Given the description of an element on the screen output the (x, y) to click on. 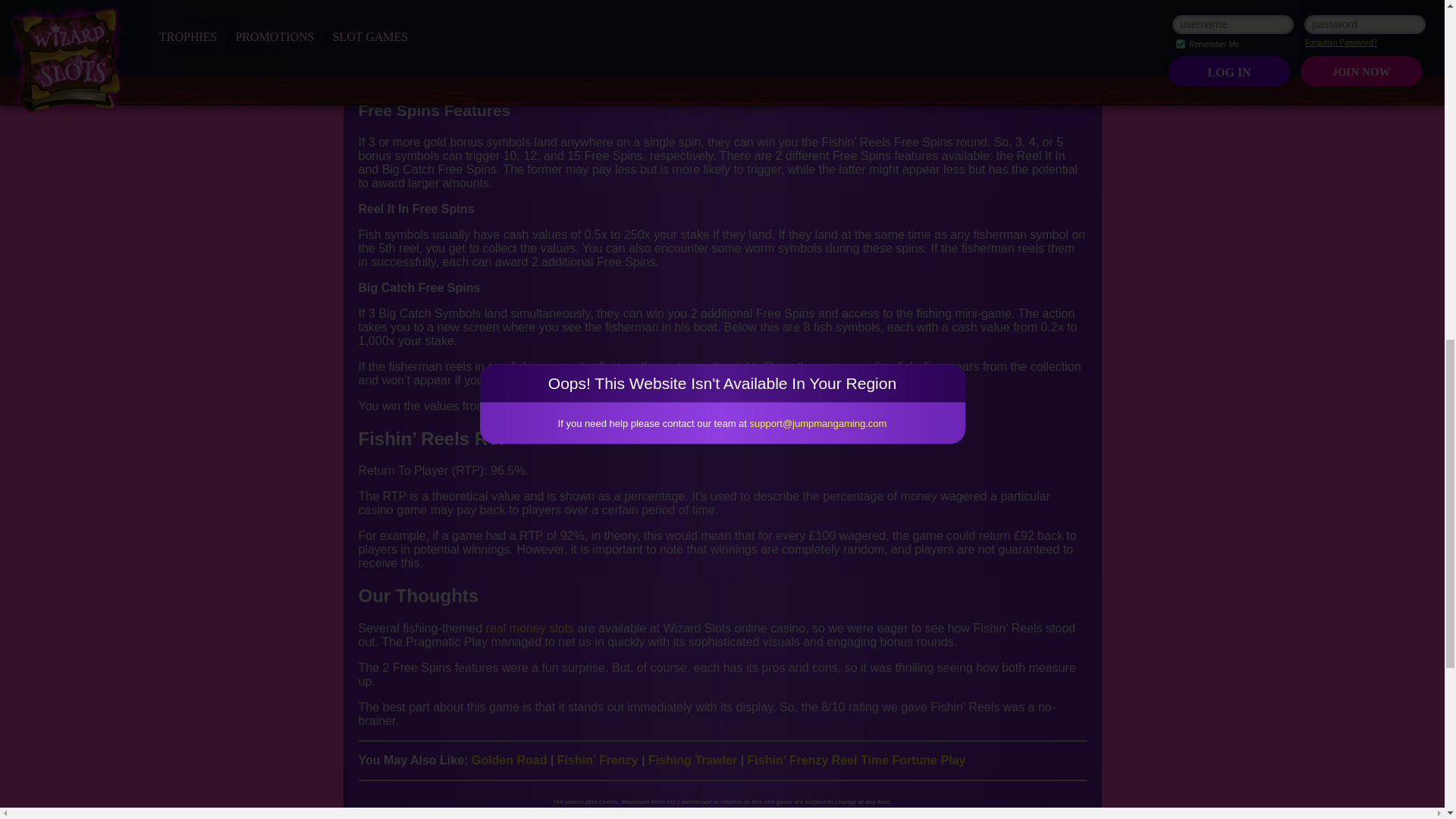
Fishing Trawler (691, 759)
real money slots (530, 627)
Golden Road (509, 759)
